Given the description of an element on the screen output the (x, y) to click on. 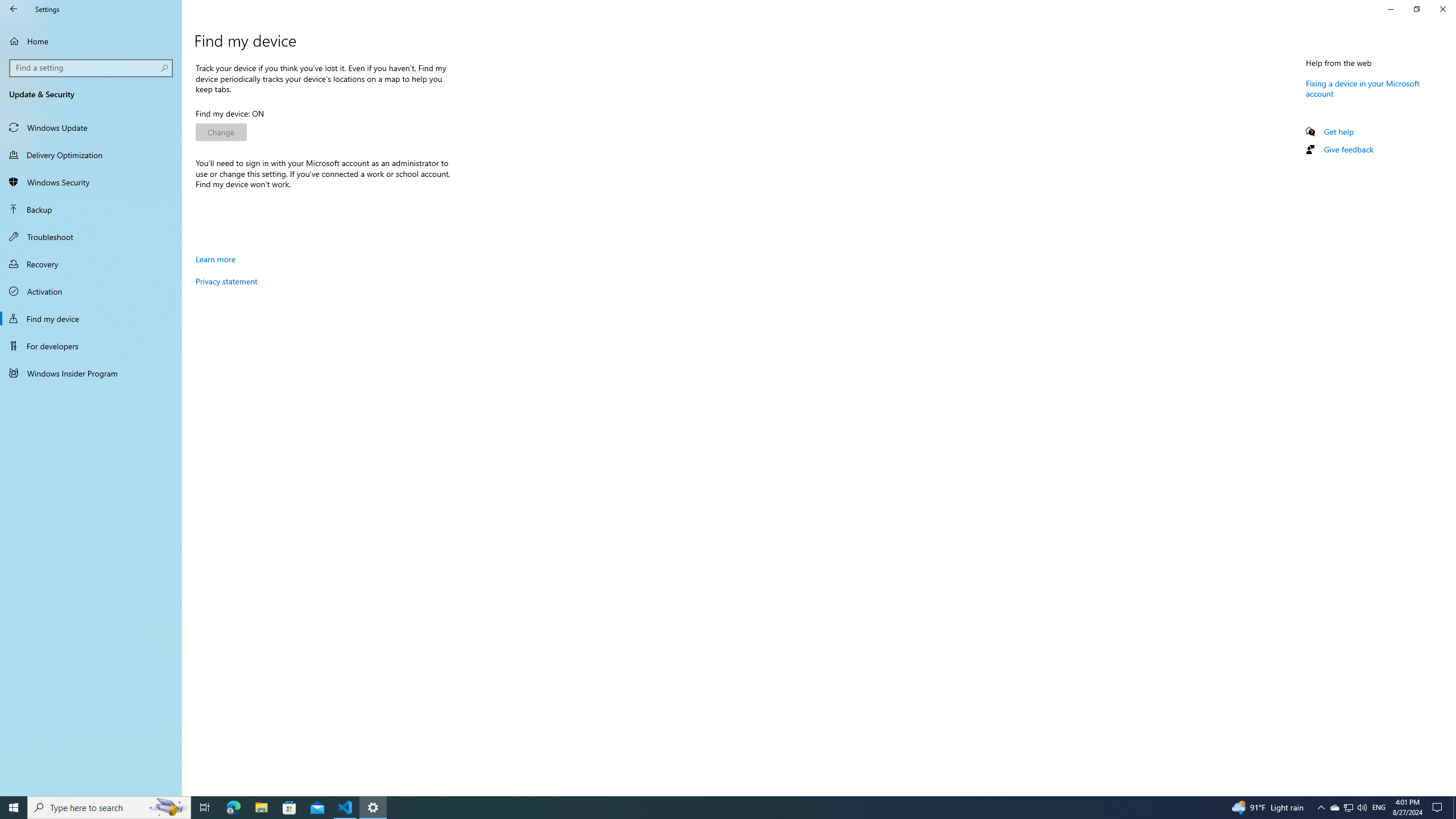
Windows Security (91, 181)
Delivery Optimization (91, 154)
